Given the description of an element on the screen output the (x, y) to click on. 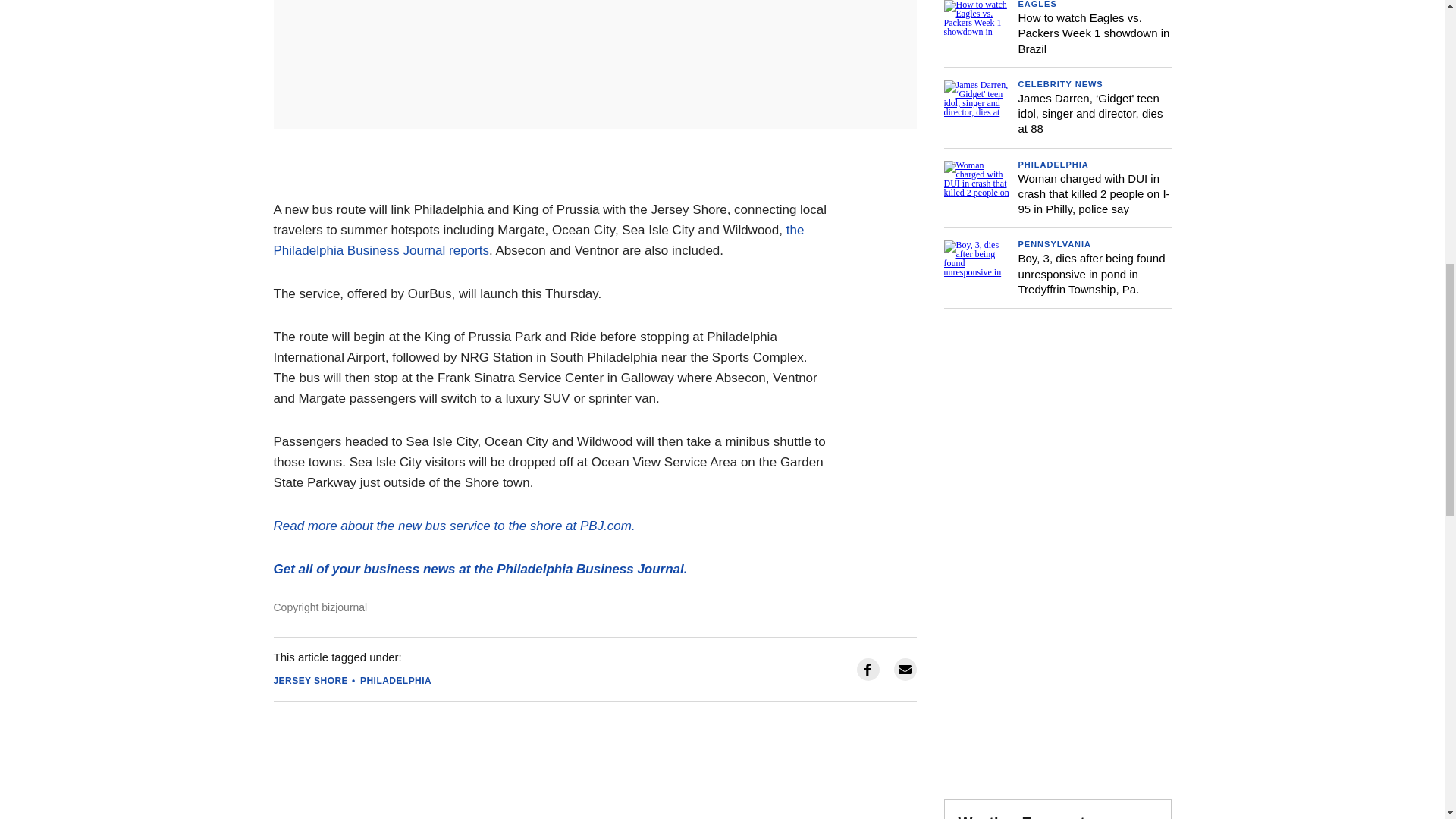
Read more about the new bus service to the shore at PBJ.com. (453, 525)
PHILADELPHIA (394, 680)
the Philadelphia Business Journal reports (538, 239)
EAGLES (1037, 4)
JERSEY SHORE (310, 680)
